Given the description of an element on the screen output the (x, y) to click on. 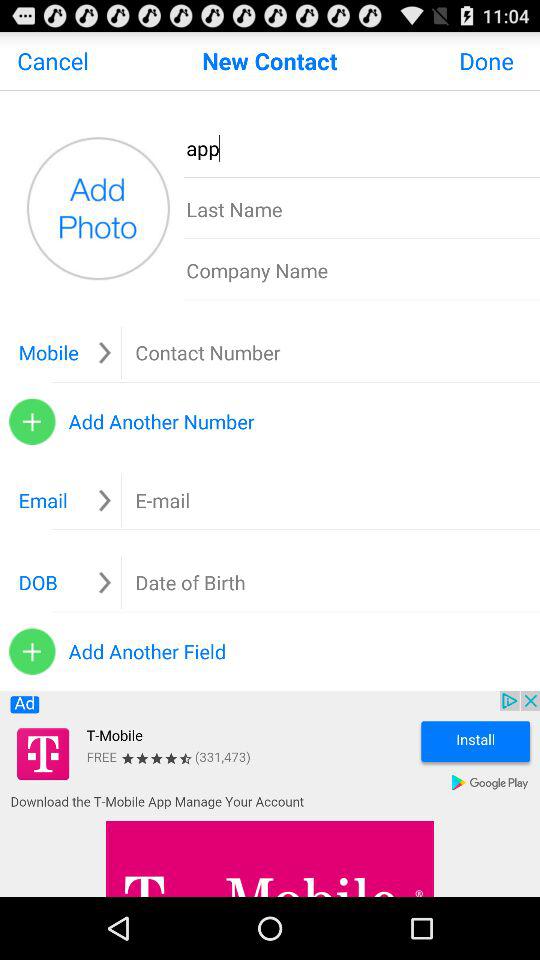
this button allows you to add picture (98, 208)
